Given the description of an element on the screen output the (x, y) to click on. 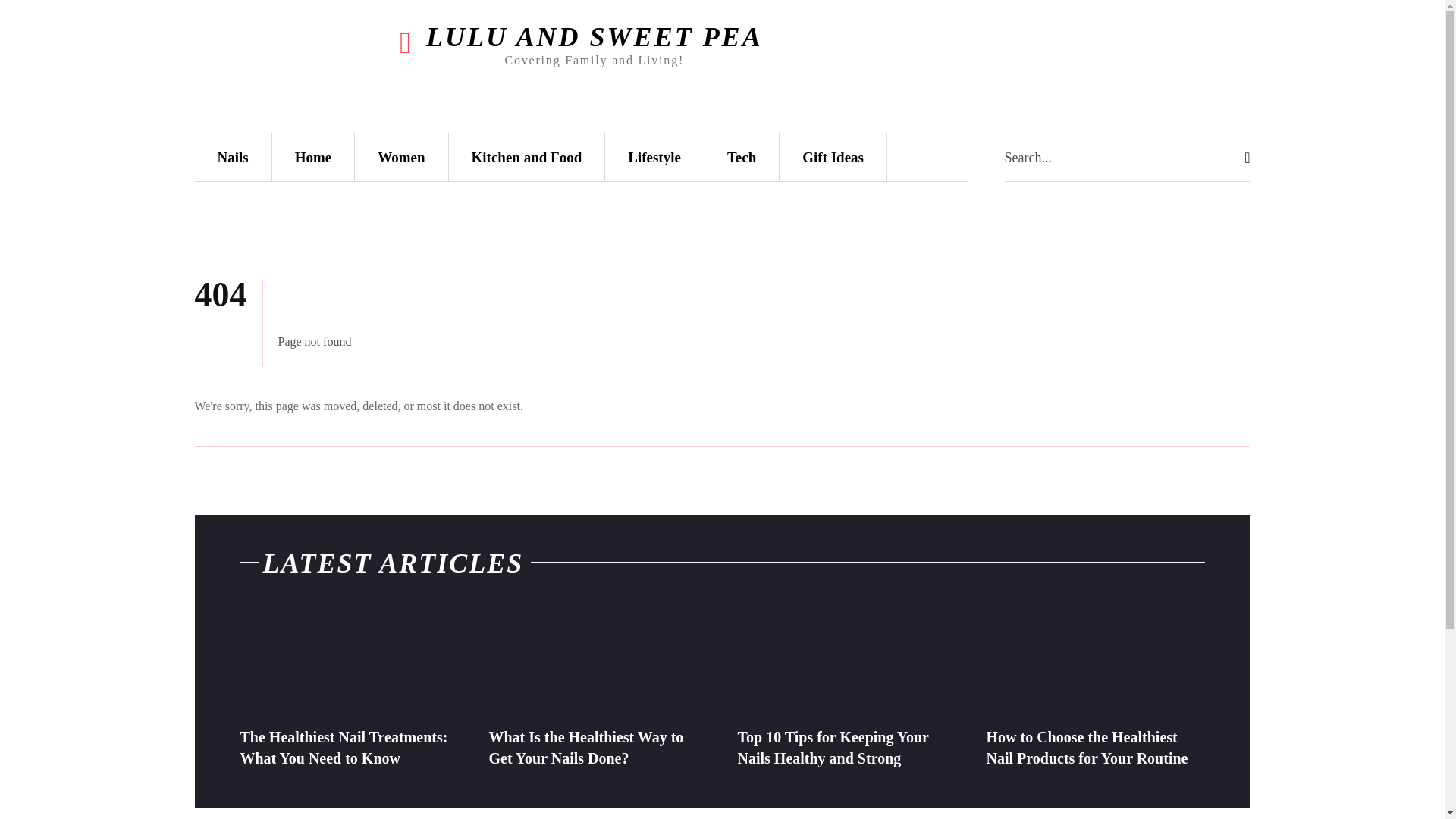
How to Choose the Healthiest Nail Products for Your Routine (1094, 661)
What Is the Healthiest Way to Get Your Nails Done? (584, 747)
Women (400, 156)
Home (313, 156)
What Is the Healthiest Way to Get Your Nails Done? (584, 747)
The Healthiest Nail Treatments: What You Need to Know (349, 661)
Nails (231, 156)
Gift Ideas (832, 156)
Kitchen and Food (526, 156)
Tech (741, 156)
